Given the description of an element on the screen output the (x, y) to click on. 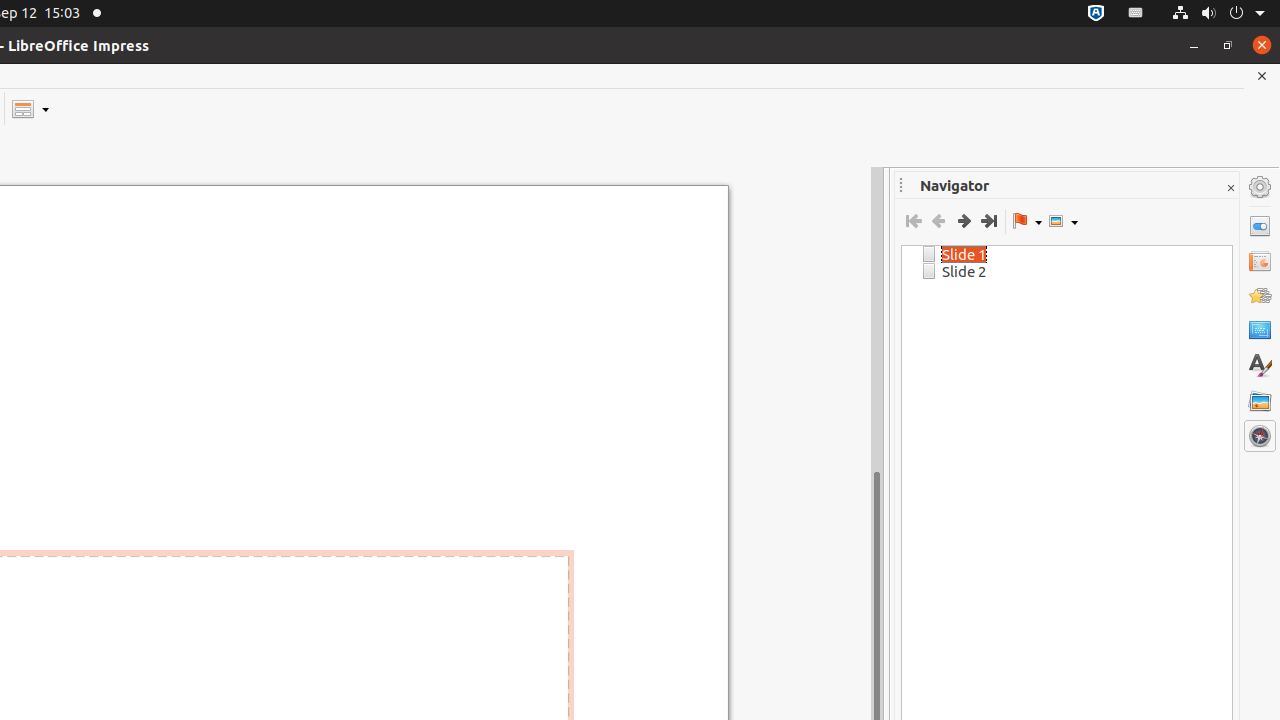
Navigator Element type: radio-button (1260, 436)
Previous Slide Element type: push-button (938, 221)
Next Slide Element type: push-button (963, 221)
Last Slide Element type: push-button (988, 221)
